Given the description of an element on the screen output the (x, y) to click on. 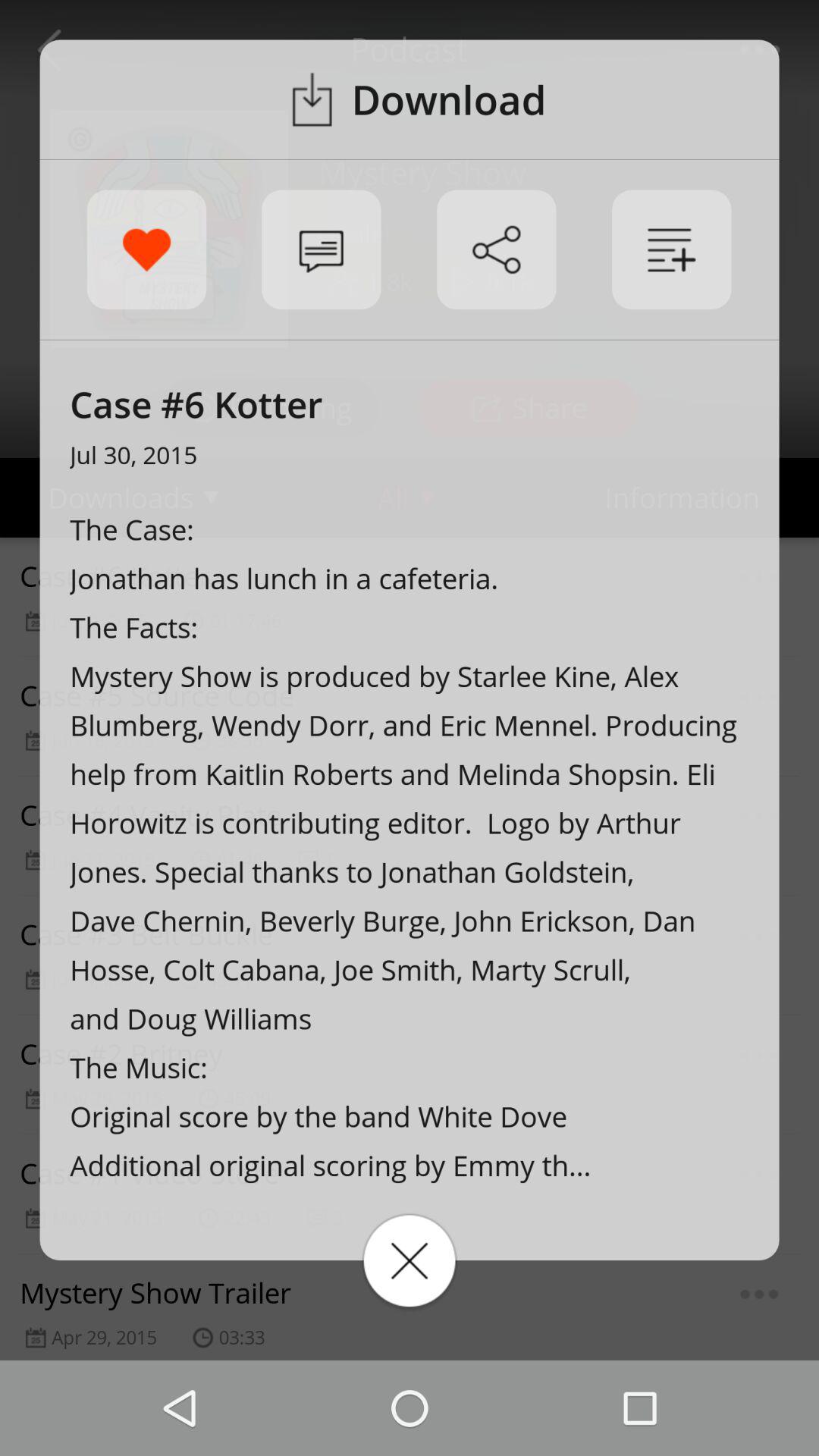
close dialogue box (409, 1260)
